Given the description of an element on the screen output the (x, y) to click on. 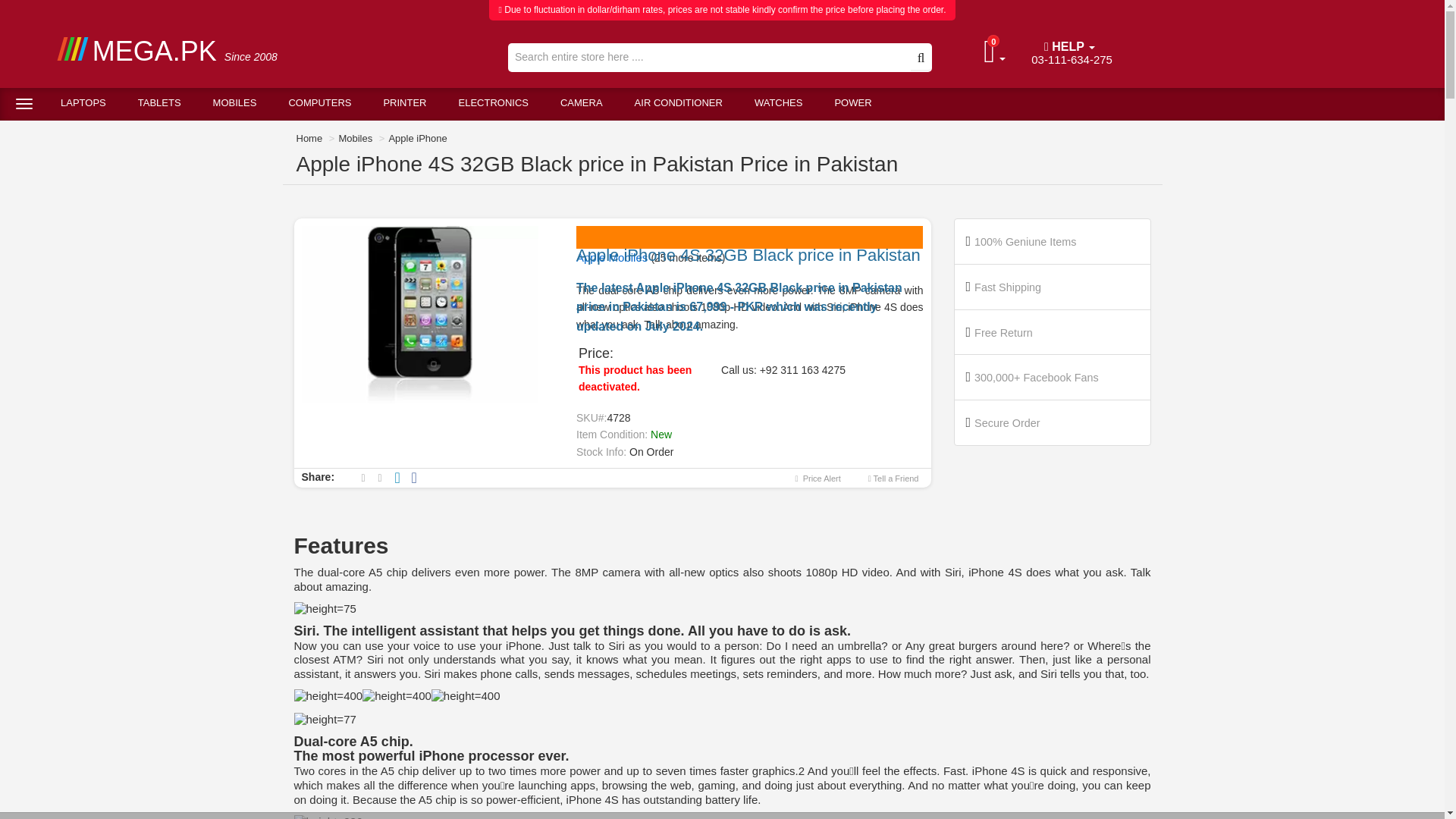
You have 0 items in your cart. (1000, 54)
Laptop Price in Pakistan (83, 102)
MEGA.PK Since 2008 (240, 50)
Online Shopping in Pakistan (1071, 54)
0 (240, 50)
